Given the description of an element on the screen output the (x, y) to click on. 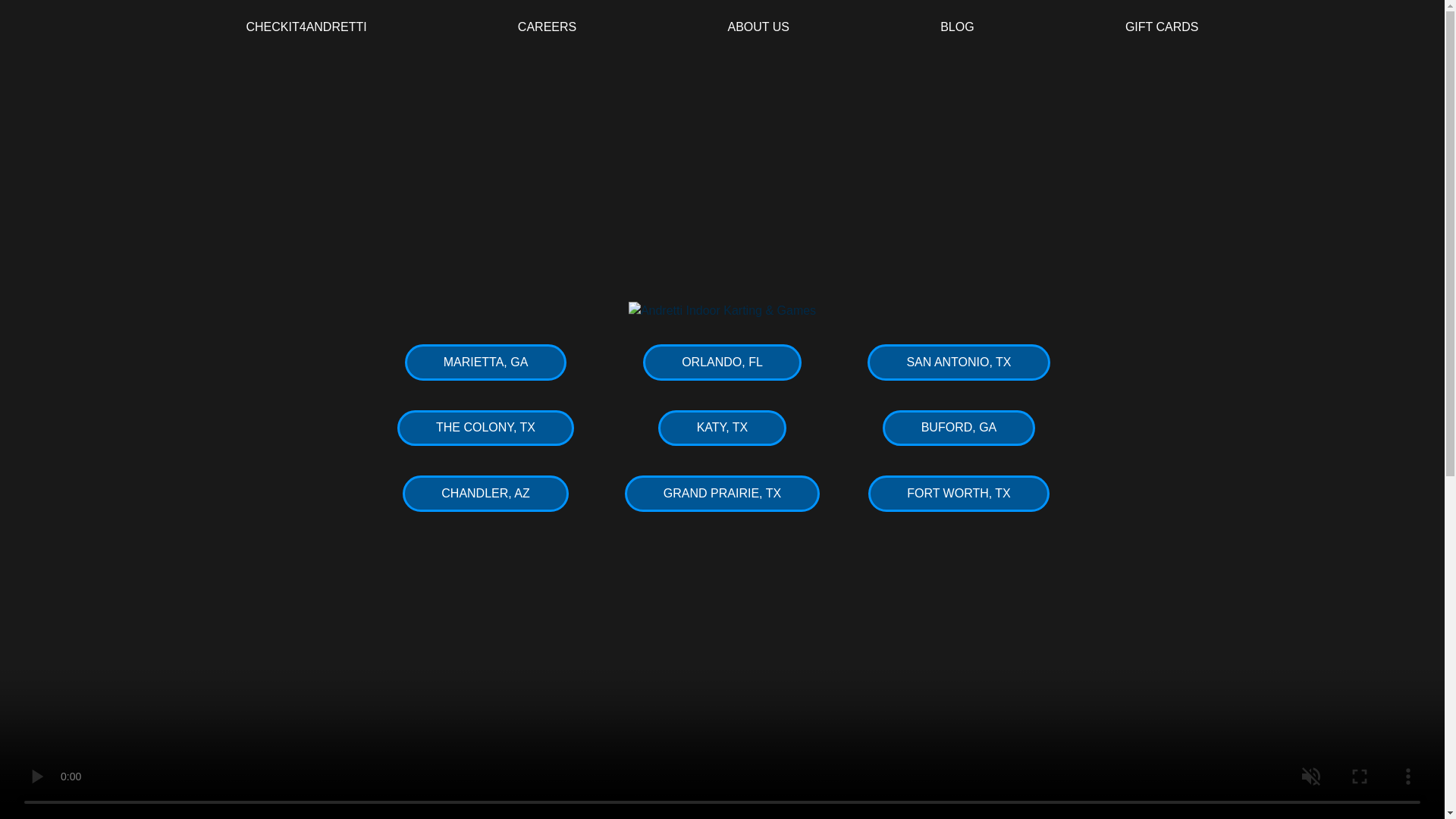
SAN ANTONIO, TX (958, 361)
GRAND PRAIRIE, TX (721, 493)
KATY, TX (722, 428)
FORT WORTH, TX (958, 493)
BUFORD, GA (958, 428)
ABOUT US (757, 27)
BLOG (956, 27)
THE COLONY, TX (485, 428)
MARIETTA, GA (485, 361)
CHECKIT4ANDRETTI (306, 27)
ORLANDO, FL (722, 361)
CHANDLER, AZ (485, 493)
GIFT CARDS (1162, 27)
CAREERS (547, 27)
